Given the description of an element on the screen output the (x, y) to click on. 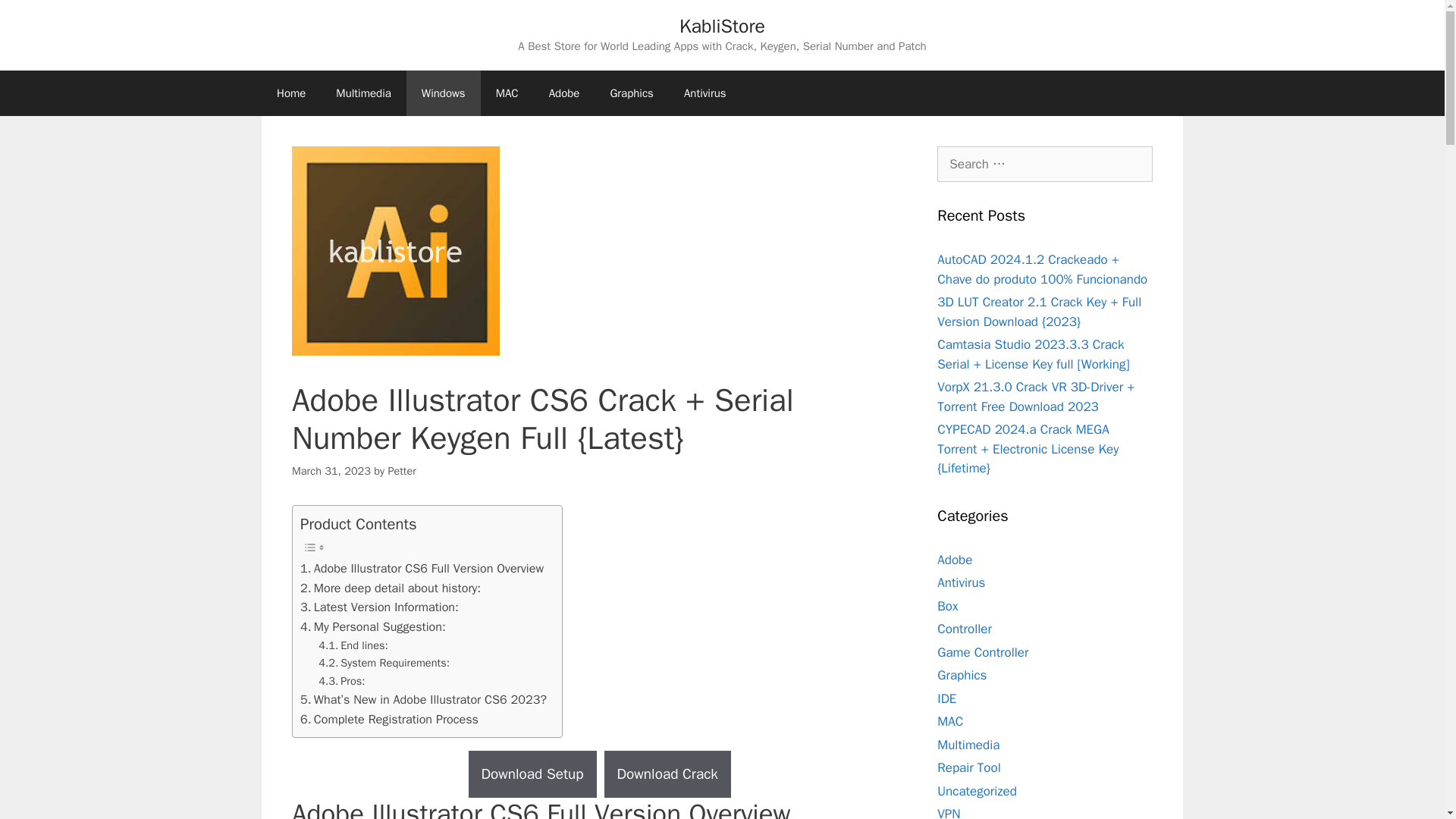
Pros: (341, 681)
Download Crack (667, 774)
End lines: (353, 645)
System Requirements: (383, 662)
My Personal Suggestion: (372, 627)
Search (35, 18)
Graphics (631, 92)
Pros: (341, 681)
Download Setup (532, 774)
